Given the description of an element on the screen output the (x, y) to click on. 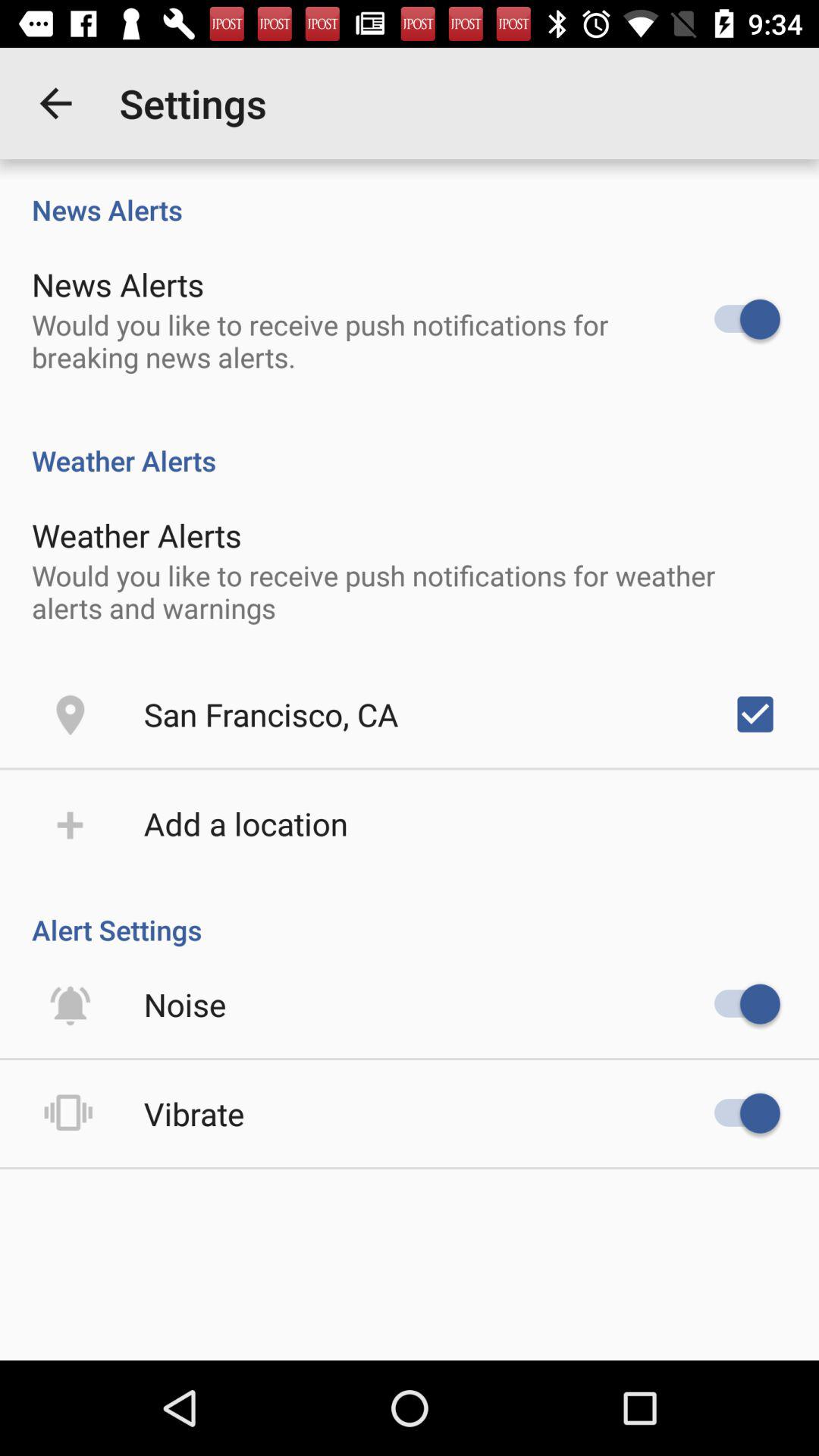
launch item above alert settings (245, 823)
